Given the description of an element on the screen output the (x, y) to click on. 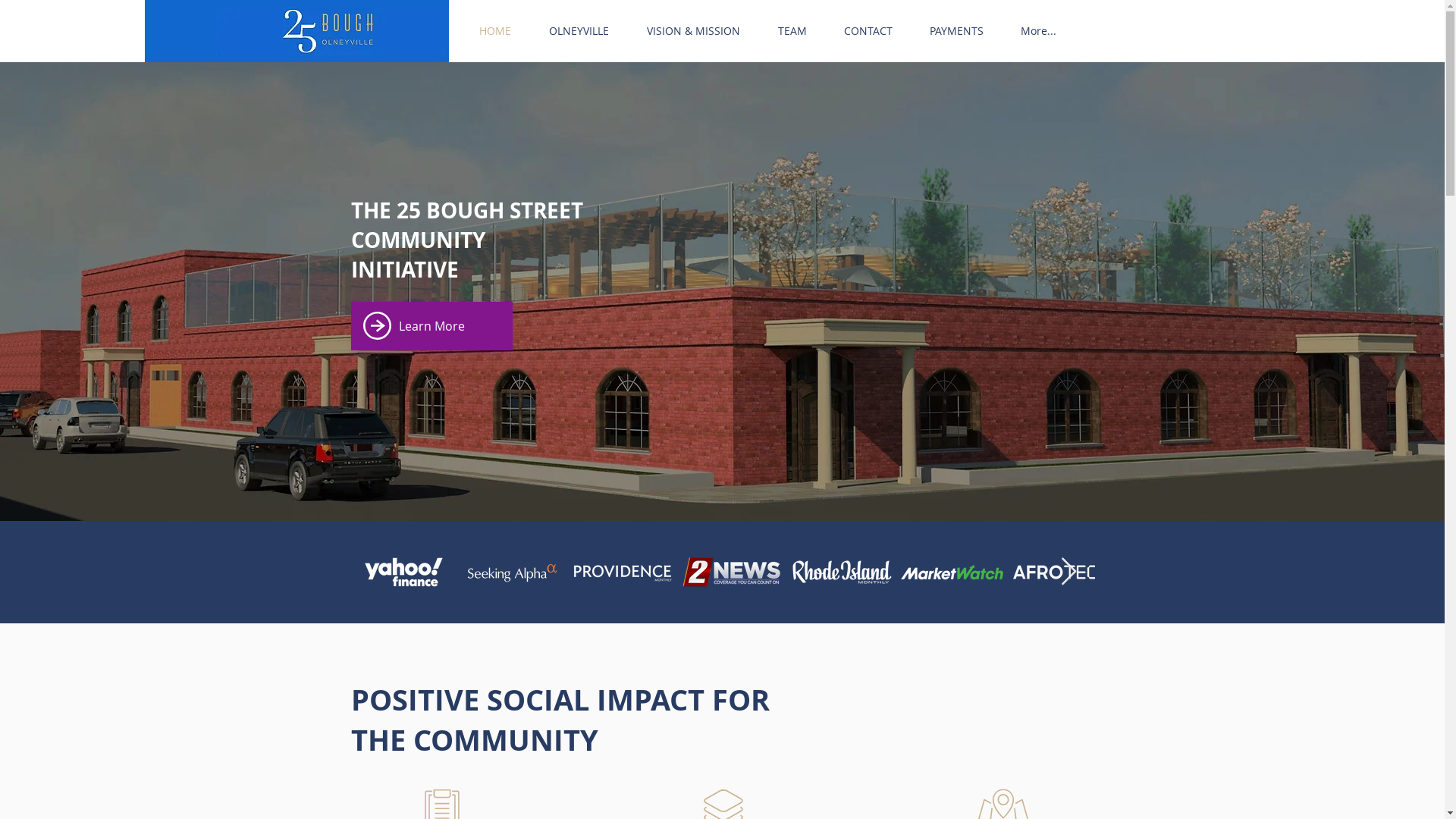
HOME Element type: text (494, 30)
TEAM Element type: text (791, 30)
PAYMENTS Element type: text (956, 30)
Learn More Element type: text (430, 325)
OLNEYVILLE Element type: text (578, 30)
CONTACT Element type: text (867, 30)
VISION & MISSION Element type: text (693, 30)
